Given the description of an element on the screen output the (x, y) to click on. 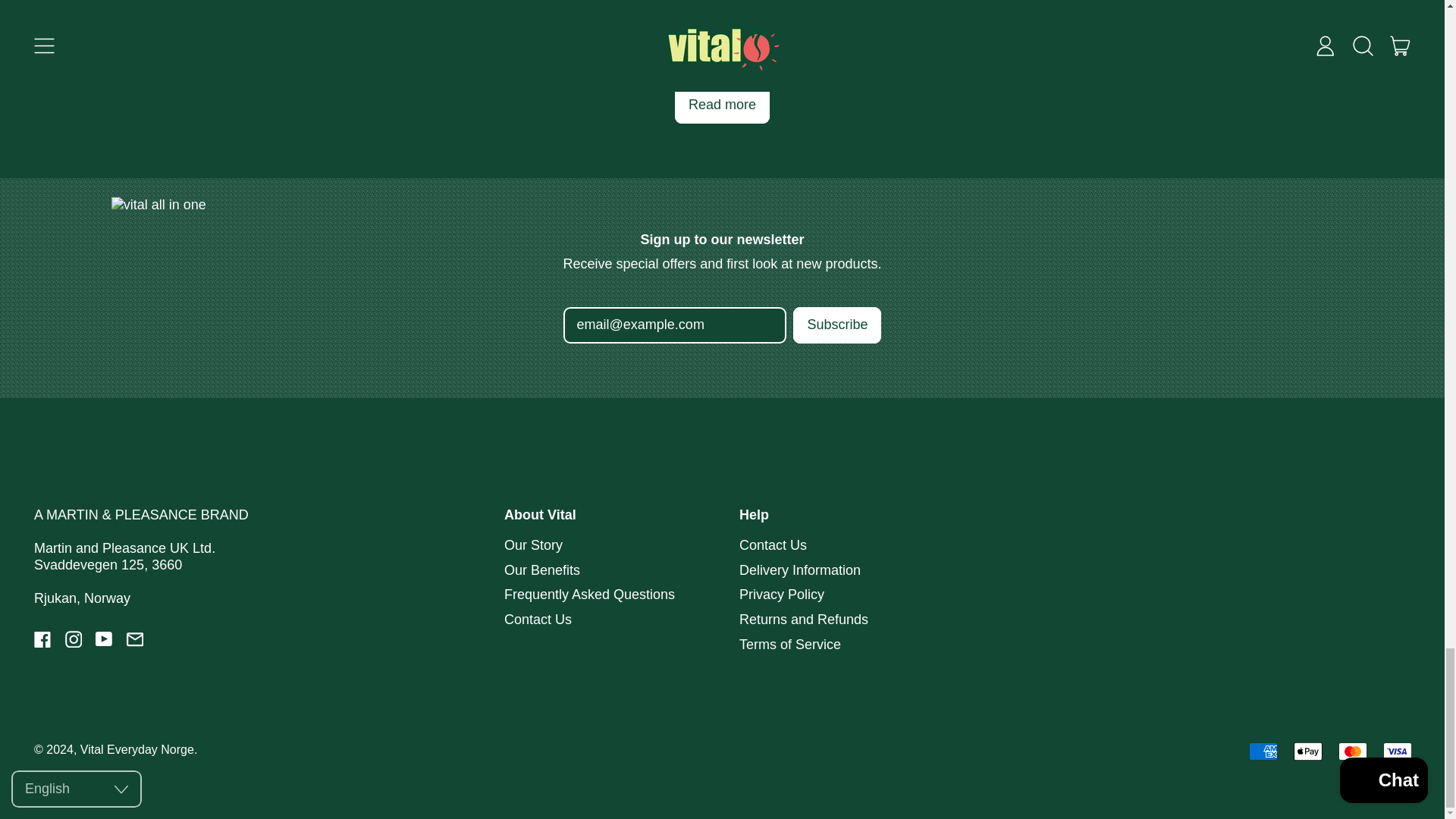
Frequently Asked Questions (589, 594)
Privacy Policy (781, 594)
Returns and Refunds (803, 619)
Contact Us (537, 619)
Facebook (41, 642)
Email (133, 642)
Contact Us (772, 544)
Our Story (532, 544)
Subscribe (836, 325)
Vital Everyday Norge (136, 748)
